Given the description of an element on the screen output the (x, y) to click on. 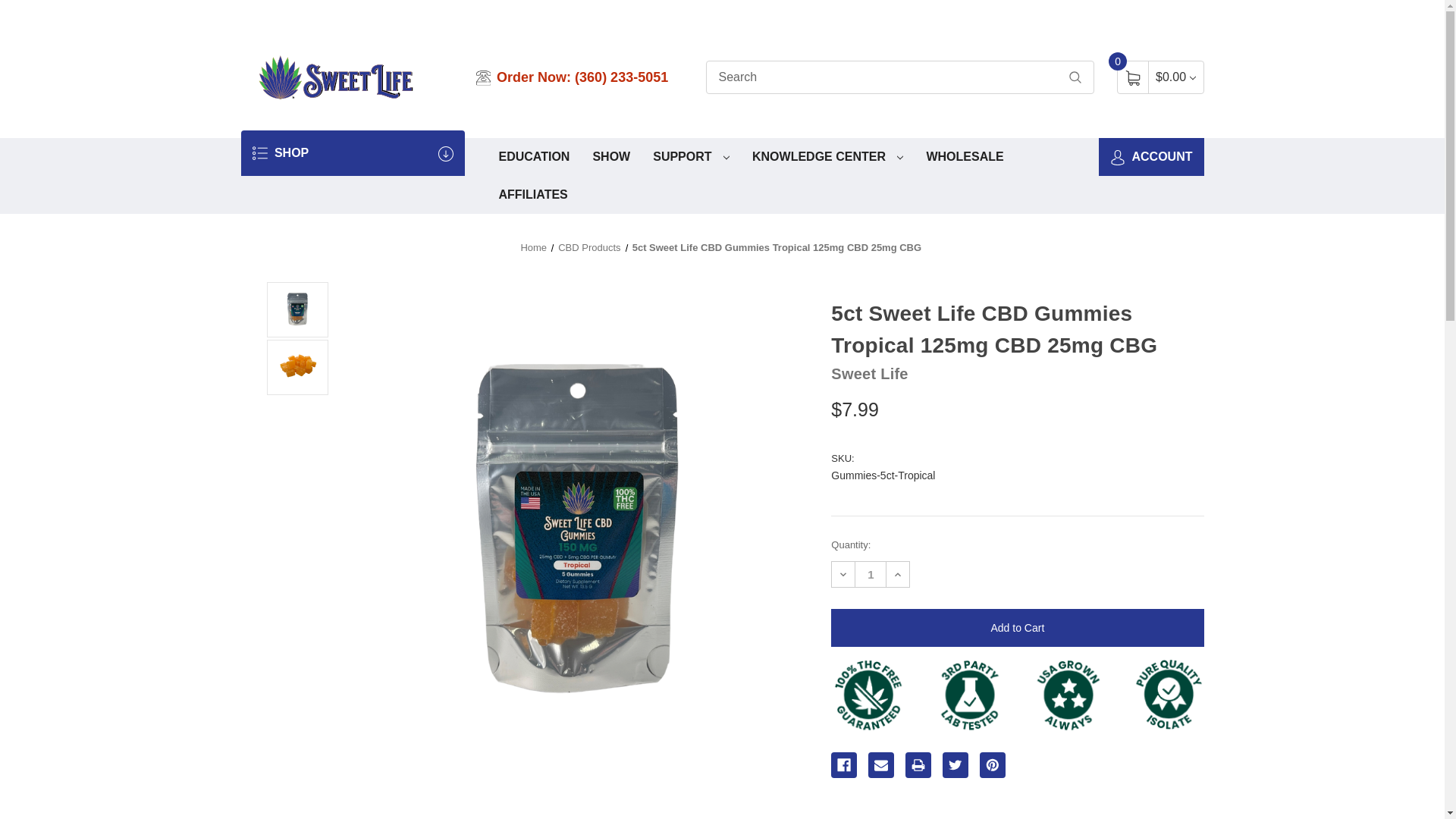
1 (870, 574)
Email (880, 765)
Twitter (955, 765)
Print (918, 765)
Add to Cart (1017, 628)
Facebook (844, 765)
Pinterest (992, 765)
epicHeader.search (1075, 77)
Sweet Life CBD (335, 77)
